Given the description of an element on the screen output the (x, y) to click on. 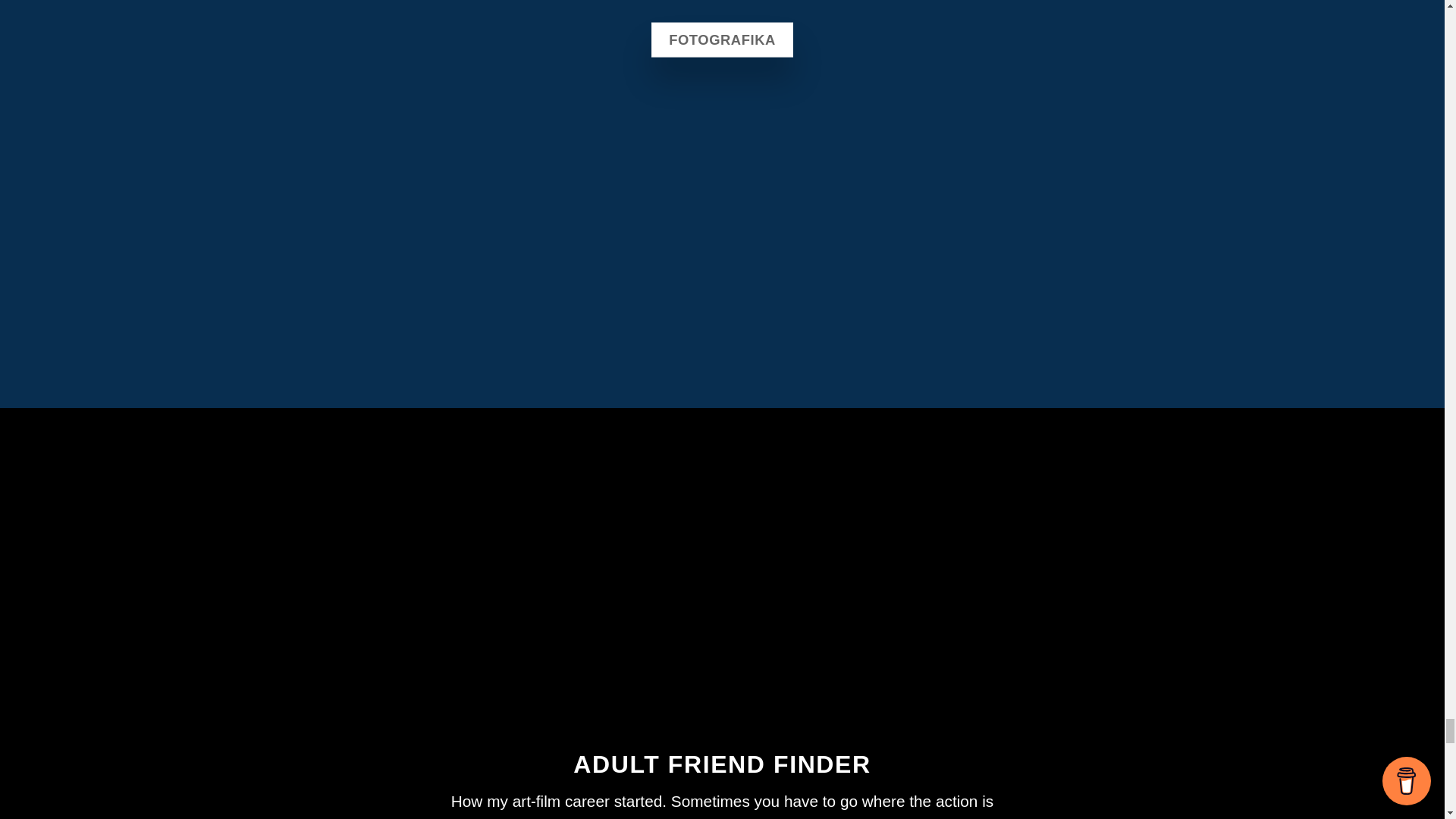
FOTOGRAFIKA (721, 39)
